Given the description of an element on the screen output the (x, y) to click on. 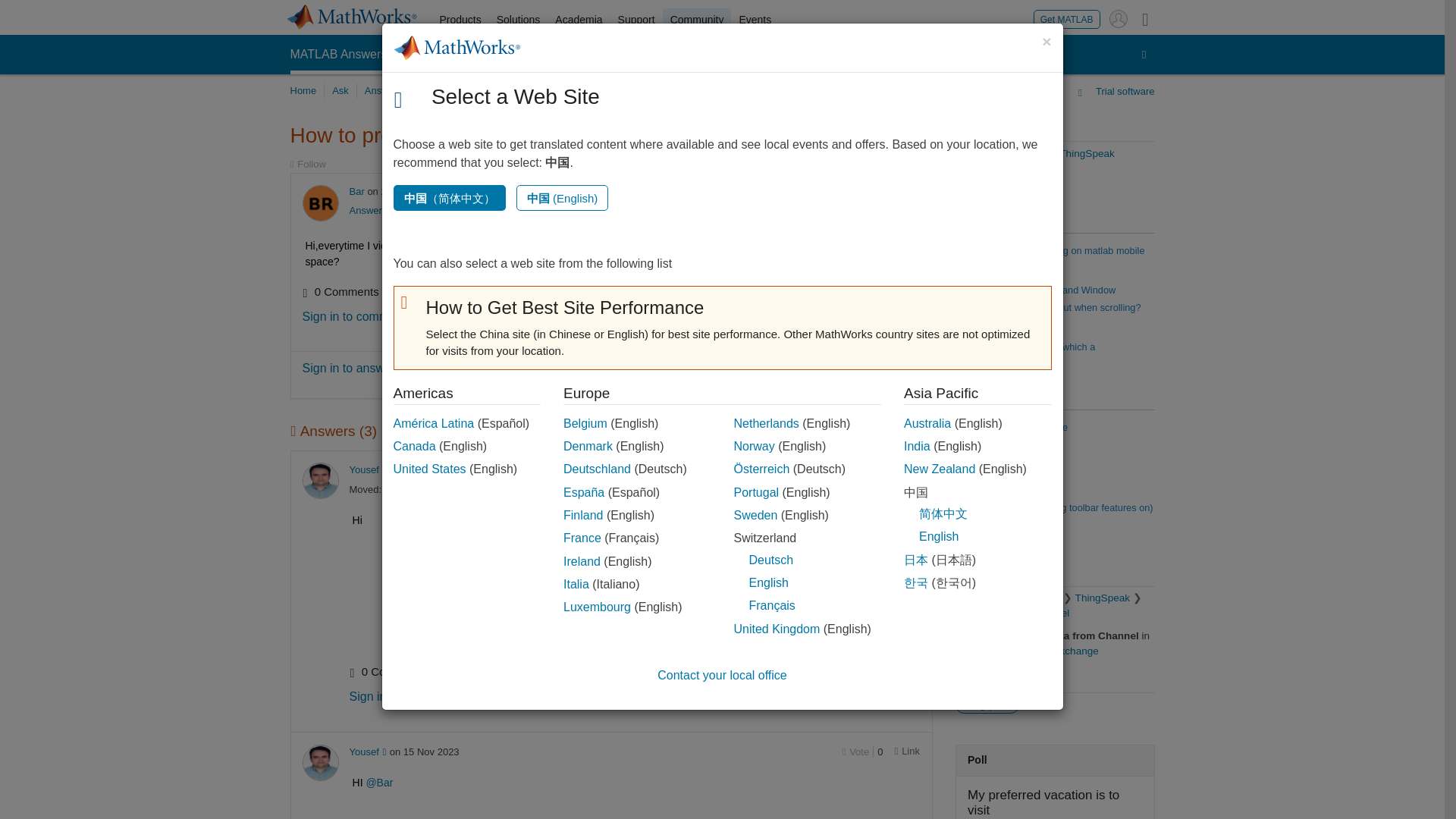
Solutions (518, 19)
Sign in to follow activity (306, 163)
Support (636, 19)
Sign In to Your MathWorks Account (1117, 18)
Products (460, 19)
Get MATLAB (1066, 18)
Sign in to vote for questions and answers (855, 193)
Events (754, 19)
Direct link to this answer (906, 469)
Community (697, 19)
Sign in to vote for questions and answers (855, 470)
Academia (578, 19)
Direct link to this question (906, 192)
